Given the description of an element on the screen output the (x, y) to click on. 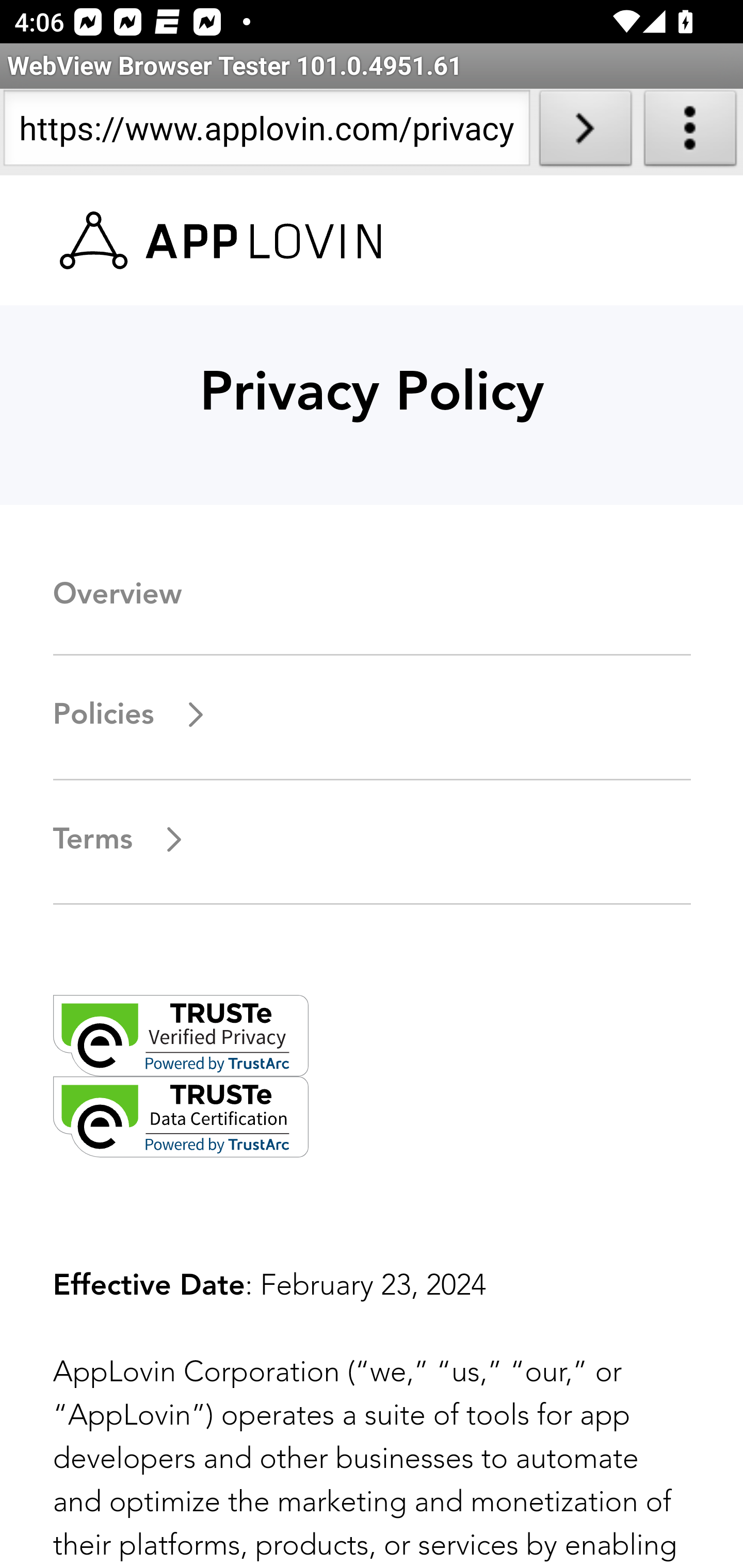
https://www.applovin.com/privacy/ (266, 132)
Load URL (585, 132)
About WebView (690, 132)
www.applovin (220, 241)
Overview (117, 595)
Policies (130, 714)
Terms (119, 840)
TRUSTe Verified Privacy (181, 1036)
TRUSTe Data Certification (181, 1116)
